Given the description of an element on the screen output the (x, y) to click on. 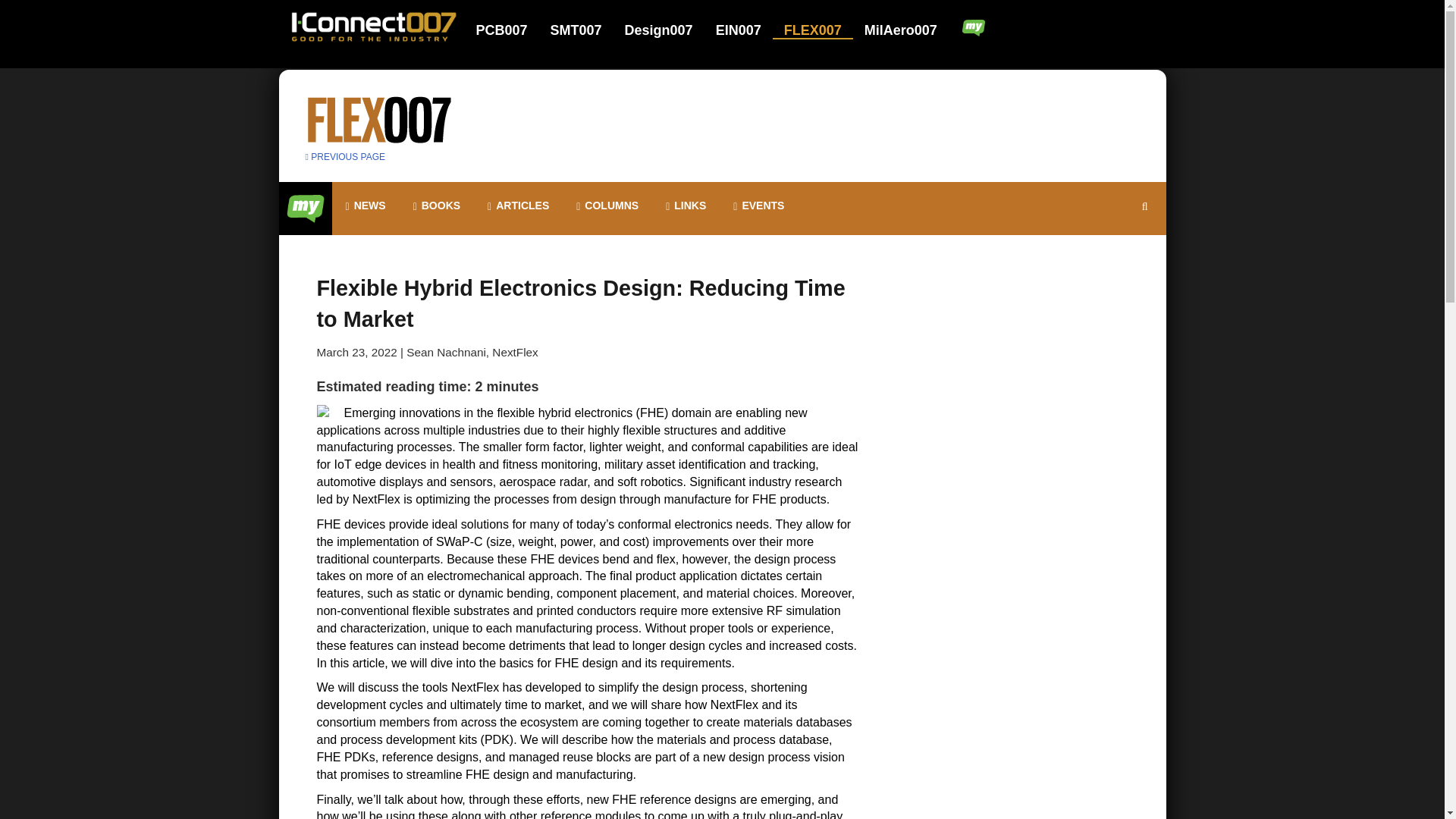
Design007 (667, 30)
BOOKS (436, 205)
ARTICLES (518, 205)
PCB007 (510, 30)
EIN007 (748, 30)
NEWS (364, 205)
MilAero007 (901, 30)
SMT007 (584, 30)
COLUMNS (607, 205)
FLEX007 (822, 30)
